Given the description of an element on the screen output the (x, y) to click on. 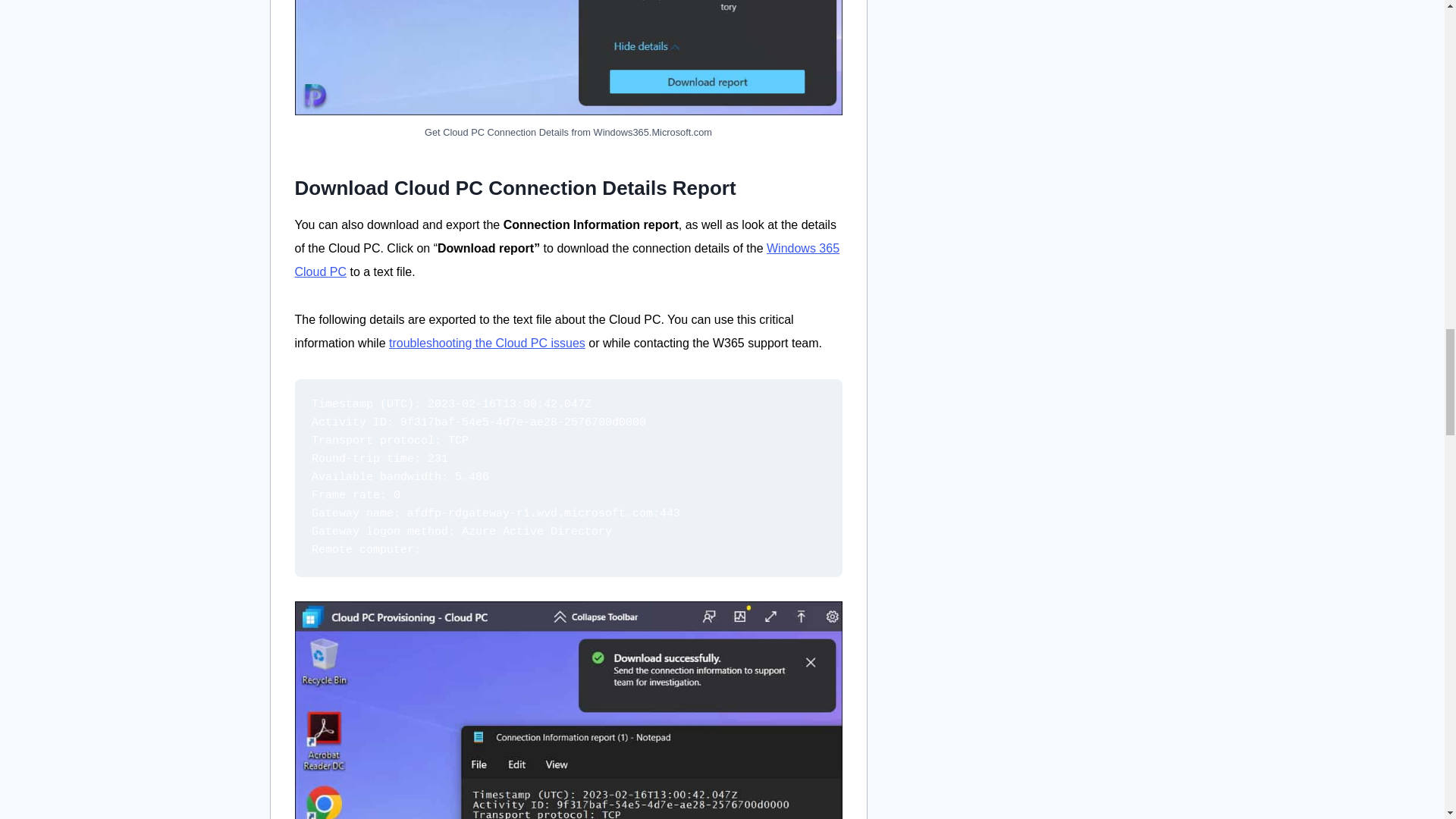
2 Ways to Get Windows 365 Cloud PC Connection Details 3 (567, 710)
troubleshooting the Cloud PC issues (486, 342)
2 Ways to Get Windows 365 Cloud PC Connection Details 2 (567, 58)
Windows 365 Cloud PC (567, 259)
